Given the description of an element on the screen output the (x, y) to click on. 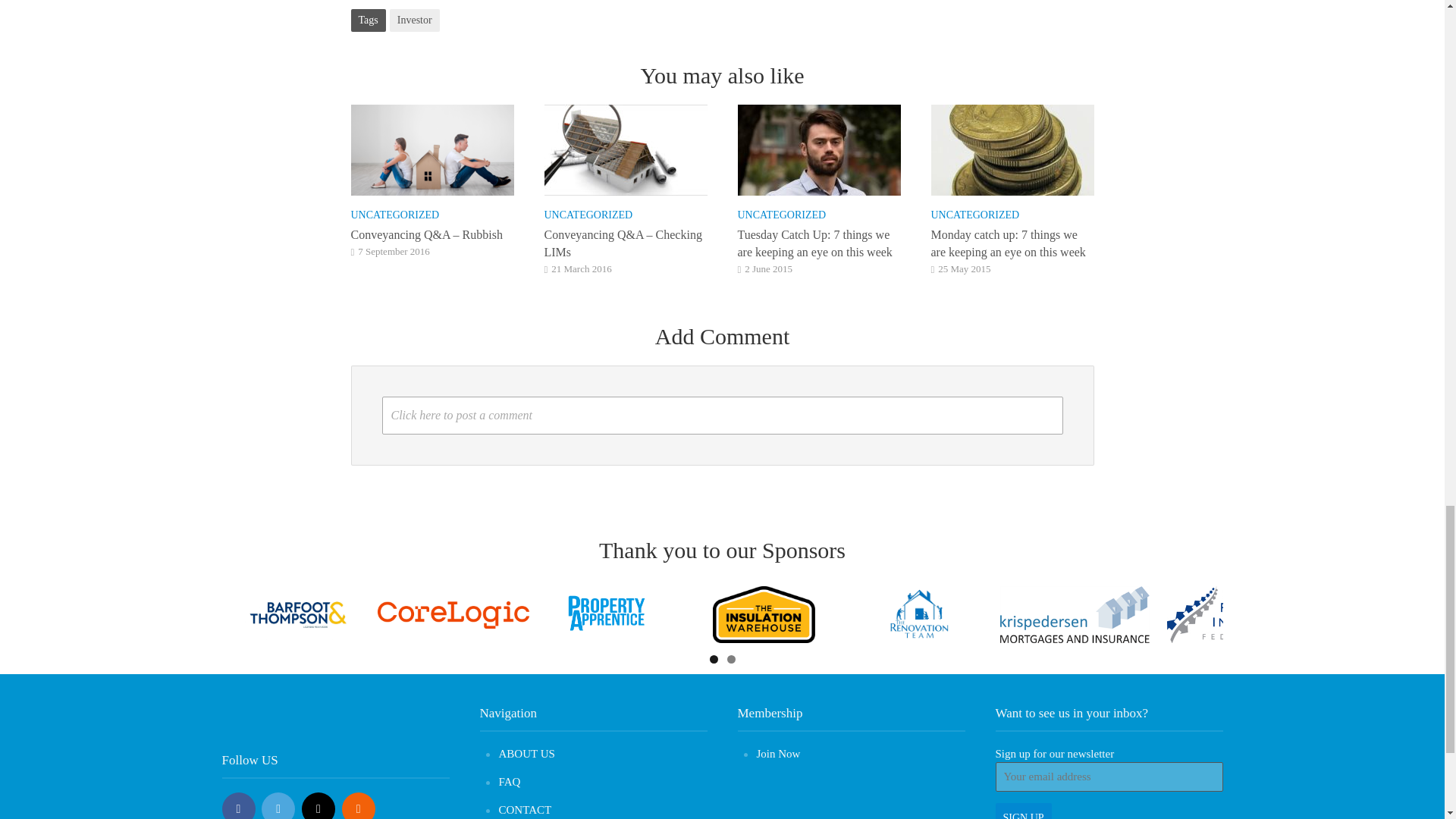
PA-Logo-Transparent (607, 614)
CoreLogic-logo-orange (453, 614)
Barfoot-Thompson-Logo-Stacked-Positive (297, 614)
TRT-full-size (919, 614)
Monday catch up: 7 things we are keeping an eye on this week (1012, 147)
Sign up (1022, 811)
